Given the description of an element on the screen output the (x, y) to click on. 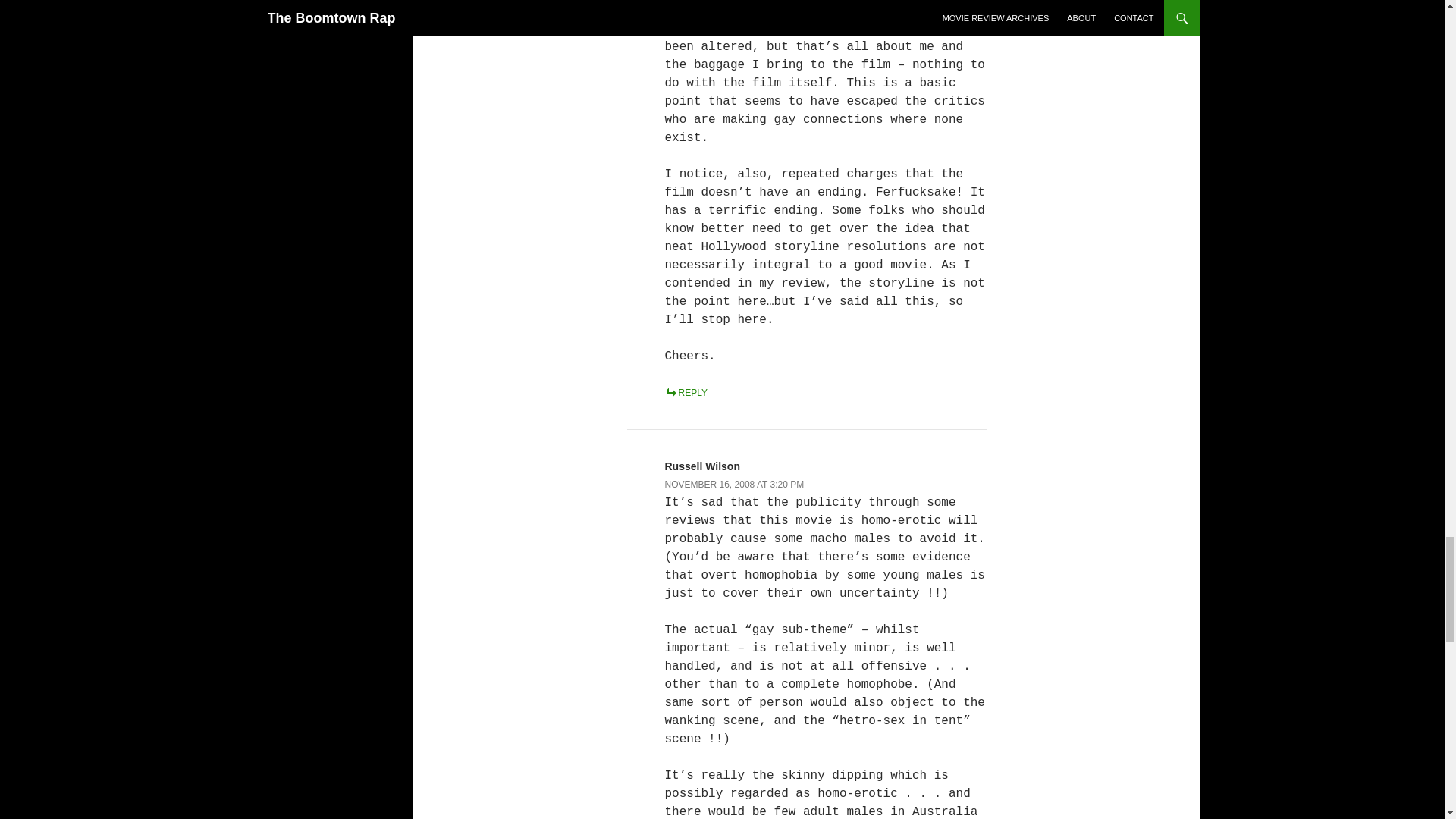
NOVEMBER 16, 2008 AT 3:20 PM (733, 484)
REPLY (684, 392)
